Given the description of an element on the screen output the (x, y) to click on. 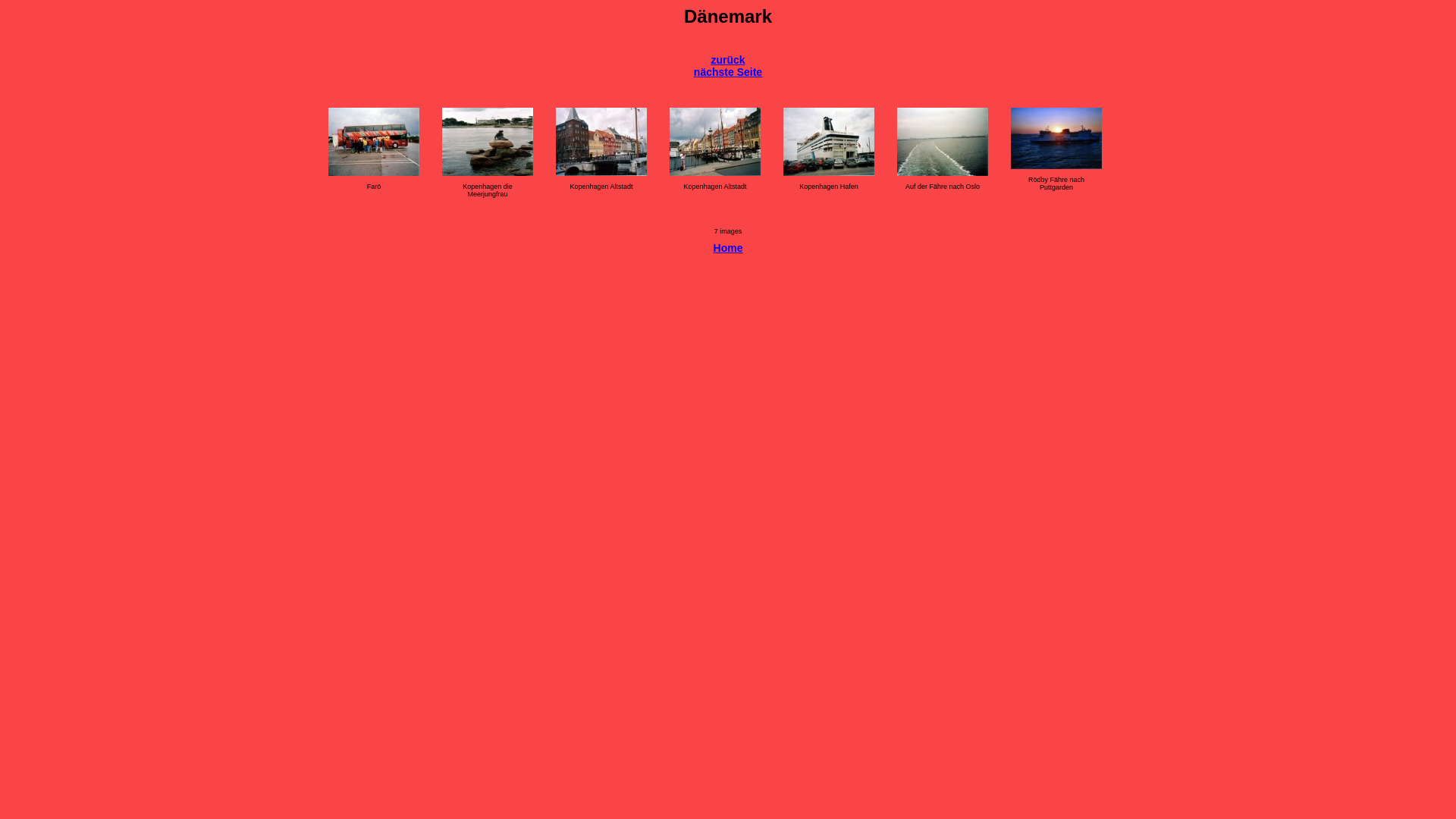
Home Element type: text (728, 247)
